Given the description of an element on the screen output the (x, y) to click on. 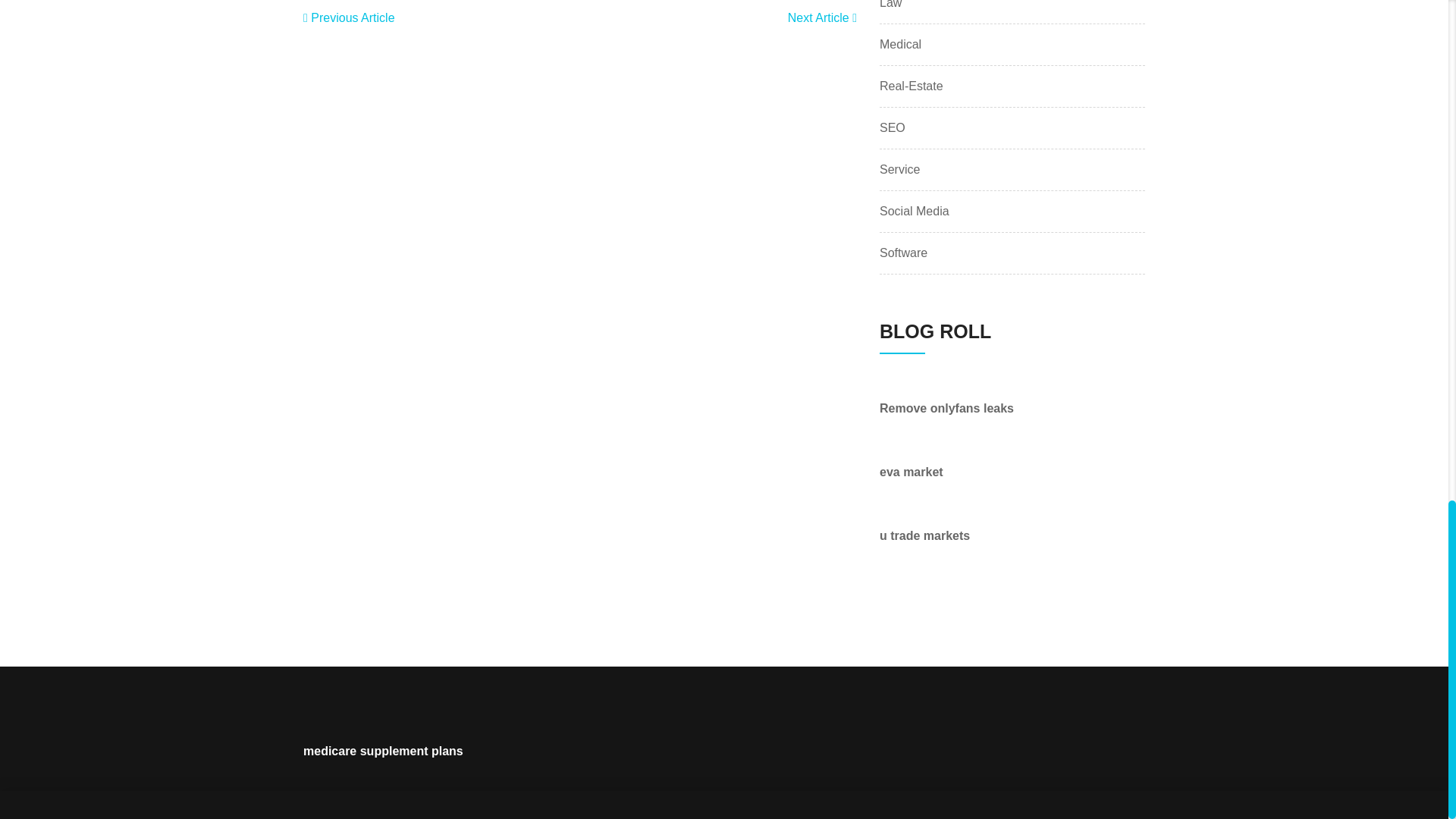
Remove onlyfans leaks (946, 408)
Social Media (914, 211)
SEO (892, 127)
eva market (911, 472)
Law (890, 6)
medicare supplement plans (382, 750)
Previous Article (348, 17)
Medical (900, 45)
Next Article (822, 17)
Service (899, 169)
